Given the description of an element on the screen output the (x, y) to click on. 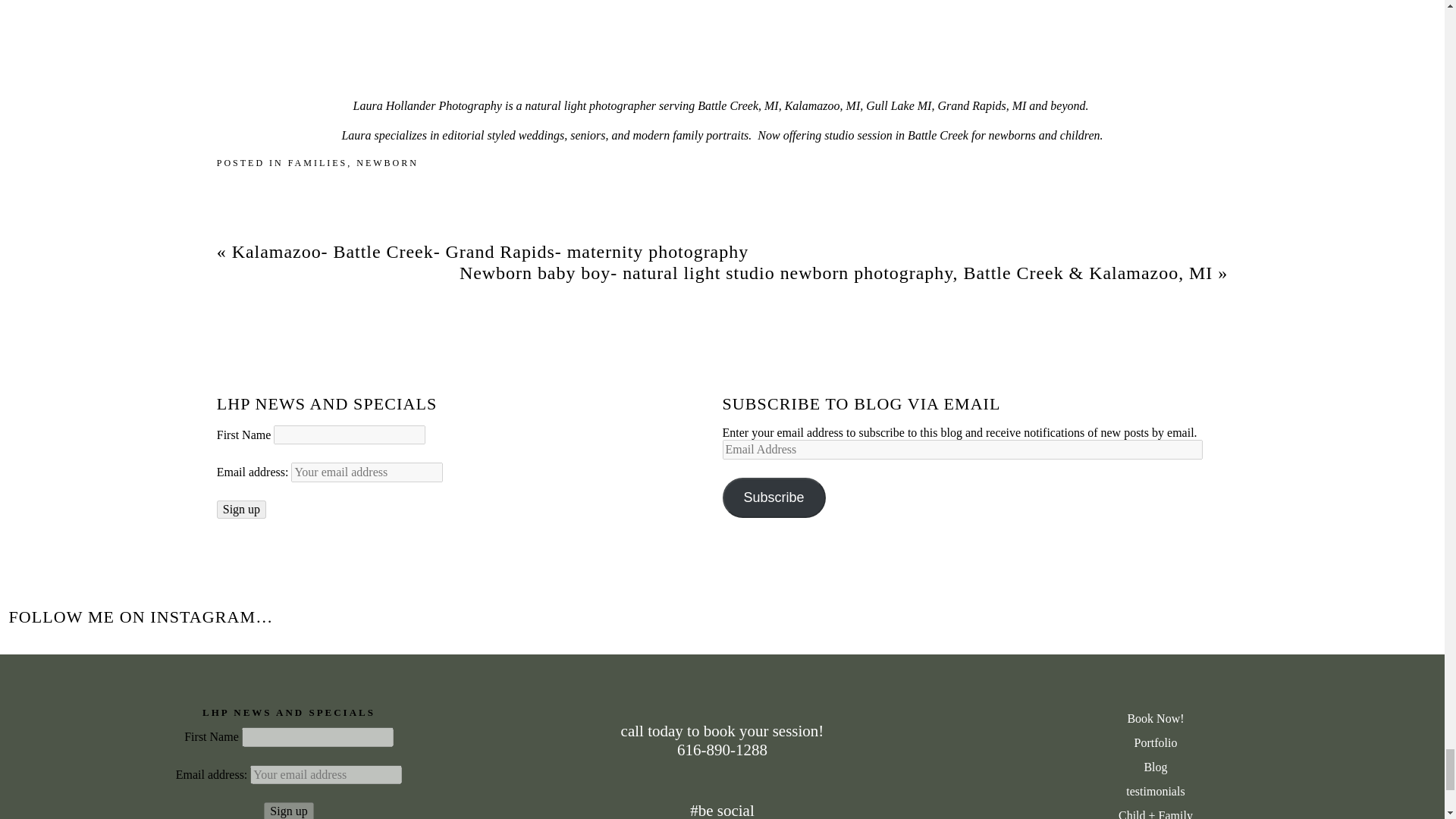
Book Now! (1155, 718)
FAMILIES (317, 163)
Sign up (241, 509)
NEWBORN (387, 163)
Blog (1155, 767)
Kalamazoo- Battle Creek- Grand Rapids- maternity photography (489, 251)
Sign up (288, 810)
Sign up (241, 509)
Portfolio (1155, 743)
testimonials (1155, 791)
